Given the description of an element on the screen output the (x, y) to click on. 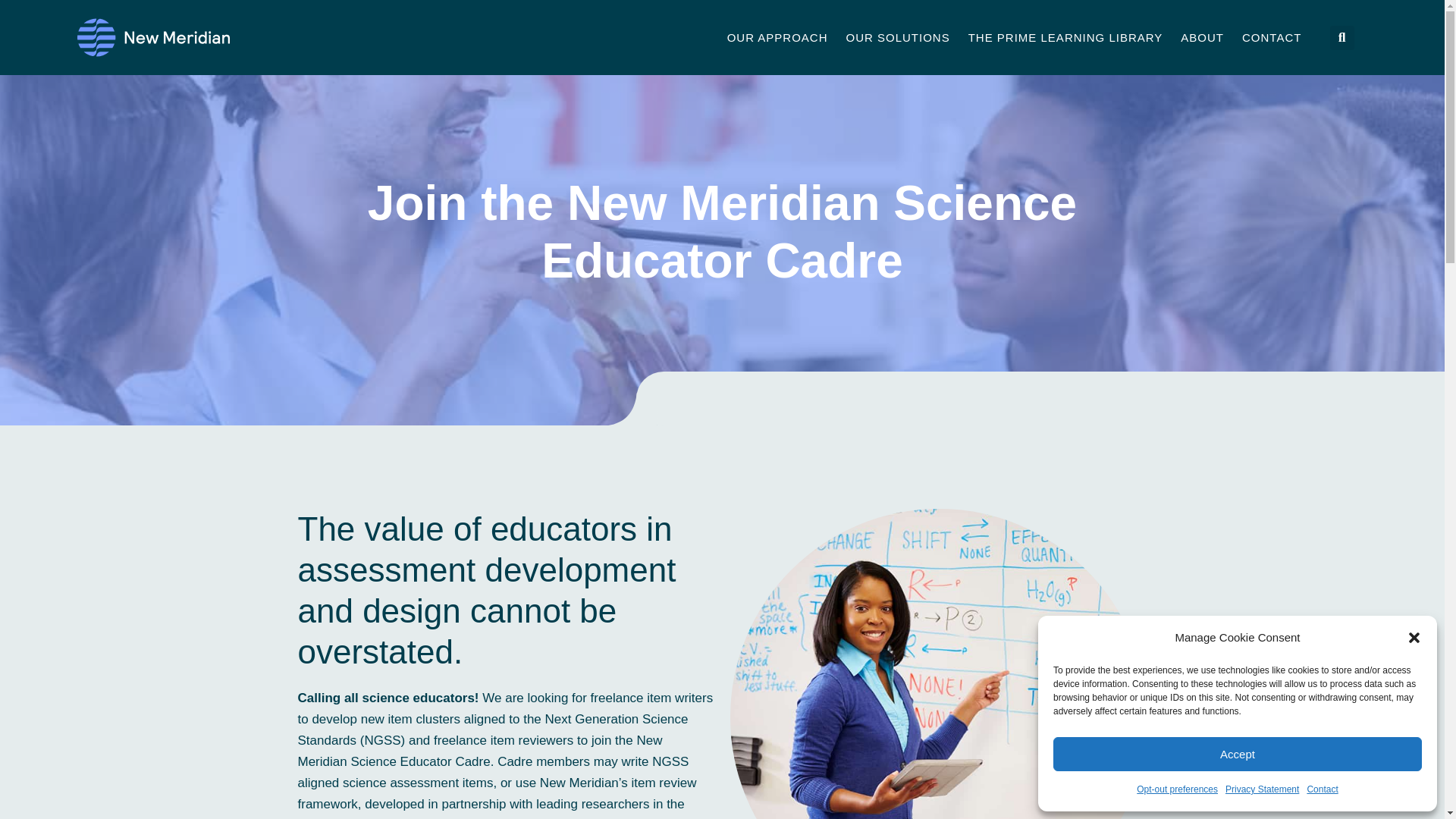
OUR APPROACH (777, 36)
CONTACT (1271, 36)
ABOUT (1202, 36)
THE PRIME LEARNING LIBRARY (1065, 36)
Opt-out preferences (1177, 789)
Contact (1322, 789)
Accept (1237, 754)
OUR SOLUTIONS (898, 36)
Privacy Statement (1261, 789)
